Given the description of an element on the screen output the (x, y) to click on. 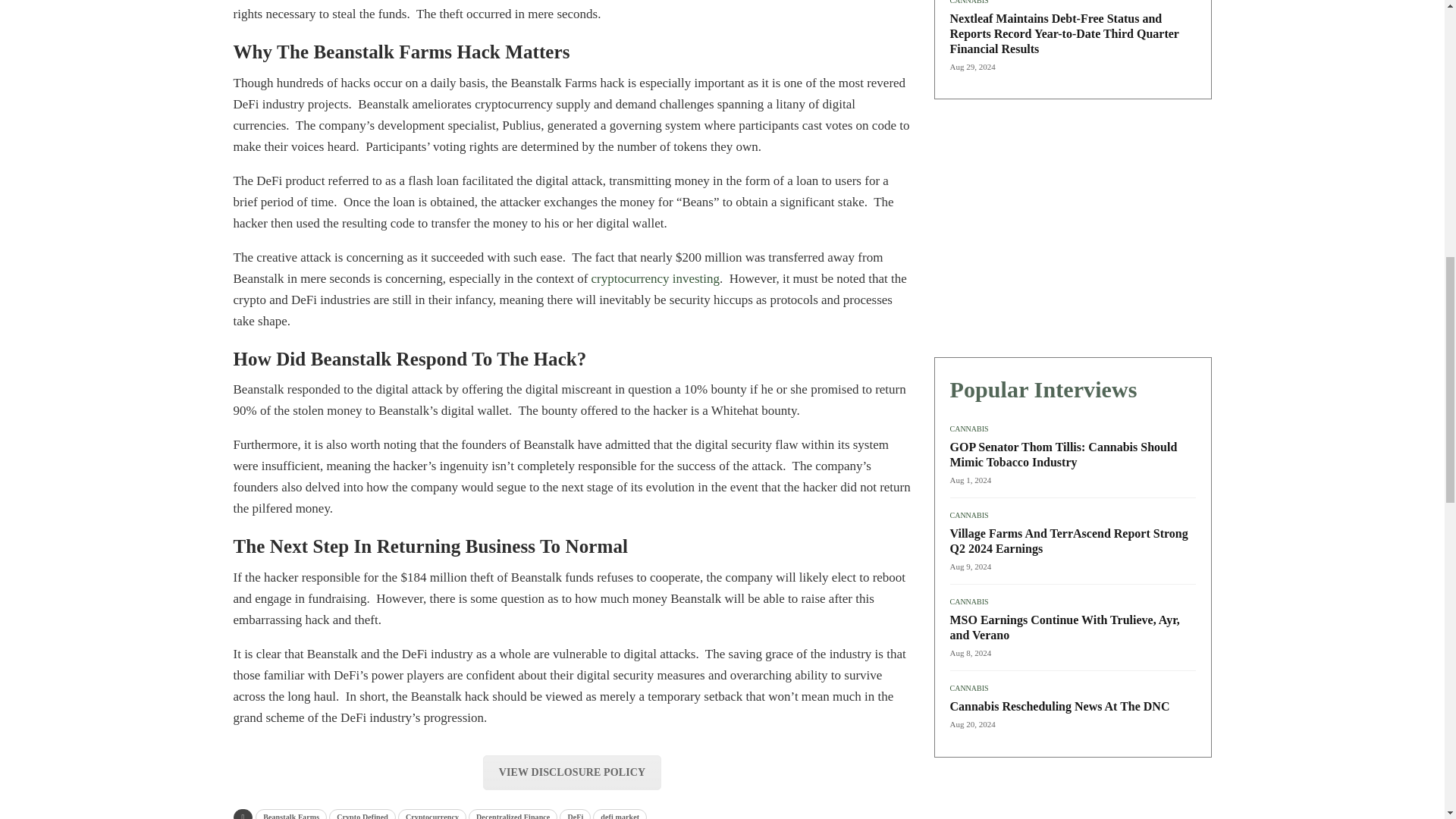
Cryptocurrency (431, 814)
Crypto Defined (362, 814)
cryptocurrency investing (655, 278)
Beanstalk Farms (291, 814)
Decentralized Finance (512, 814)
DeFi (575, 814)
VIEW DISCLOSURE POLICY (572, 771)
VIEW DISCLOSURE POLICY (572, 772)
